Given the description of an element on the screen output the (x, y) to click on. 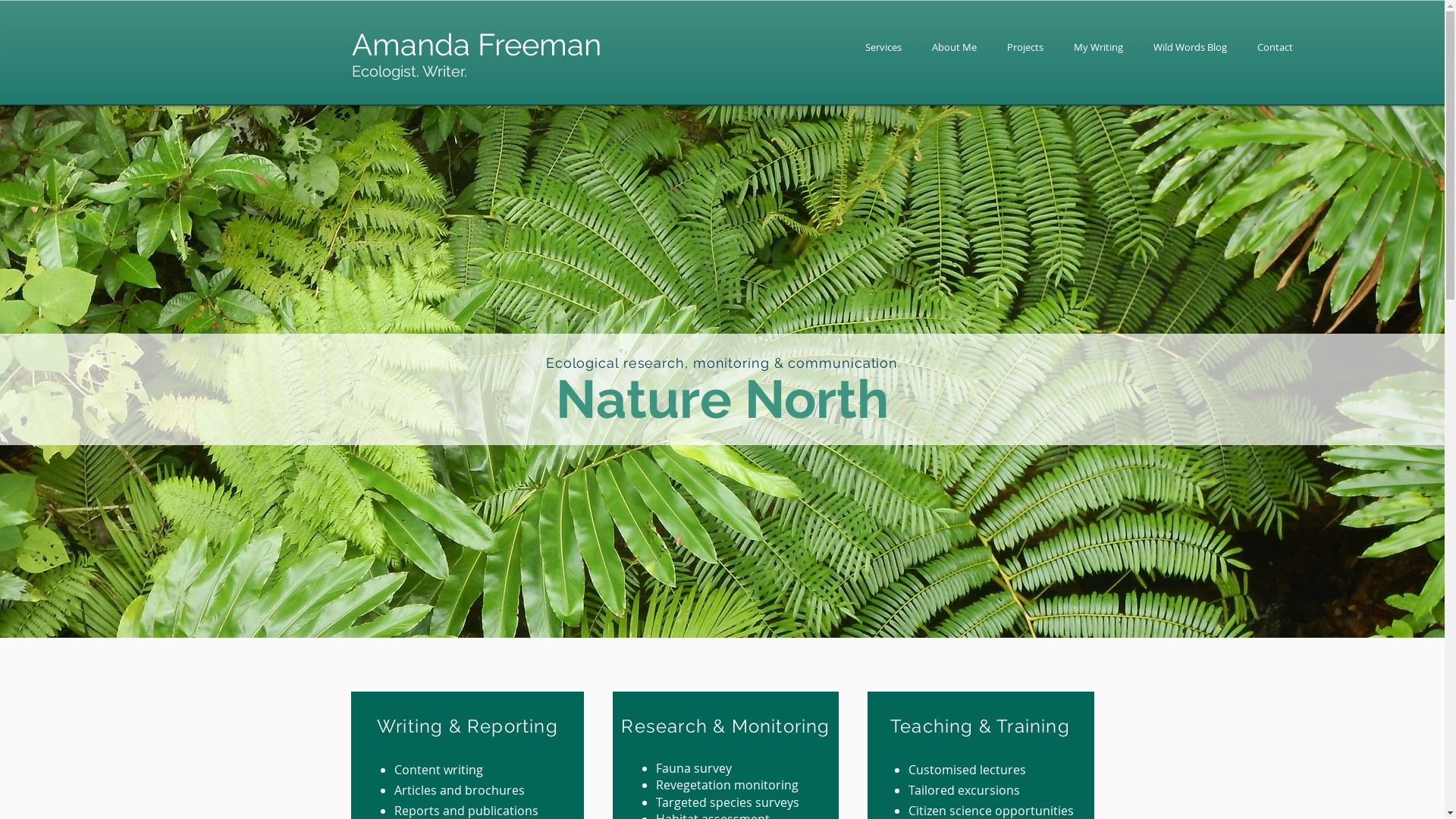
My Writing Element type: text (1098, 47)
About Me Element type: text (953, 47)
Projects Element type: text (1024, 47)
Amanda Freeman Element type: text (476, 44)
Contact Element type: text (1275, 47)
Wild Words Blog Element type: text (1190, 47)
Services Element type: text (883, 47)
